Given the description of an element on the screen output the (x, y) to click on. 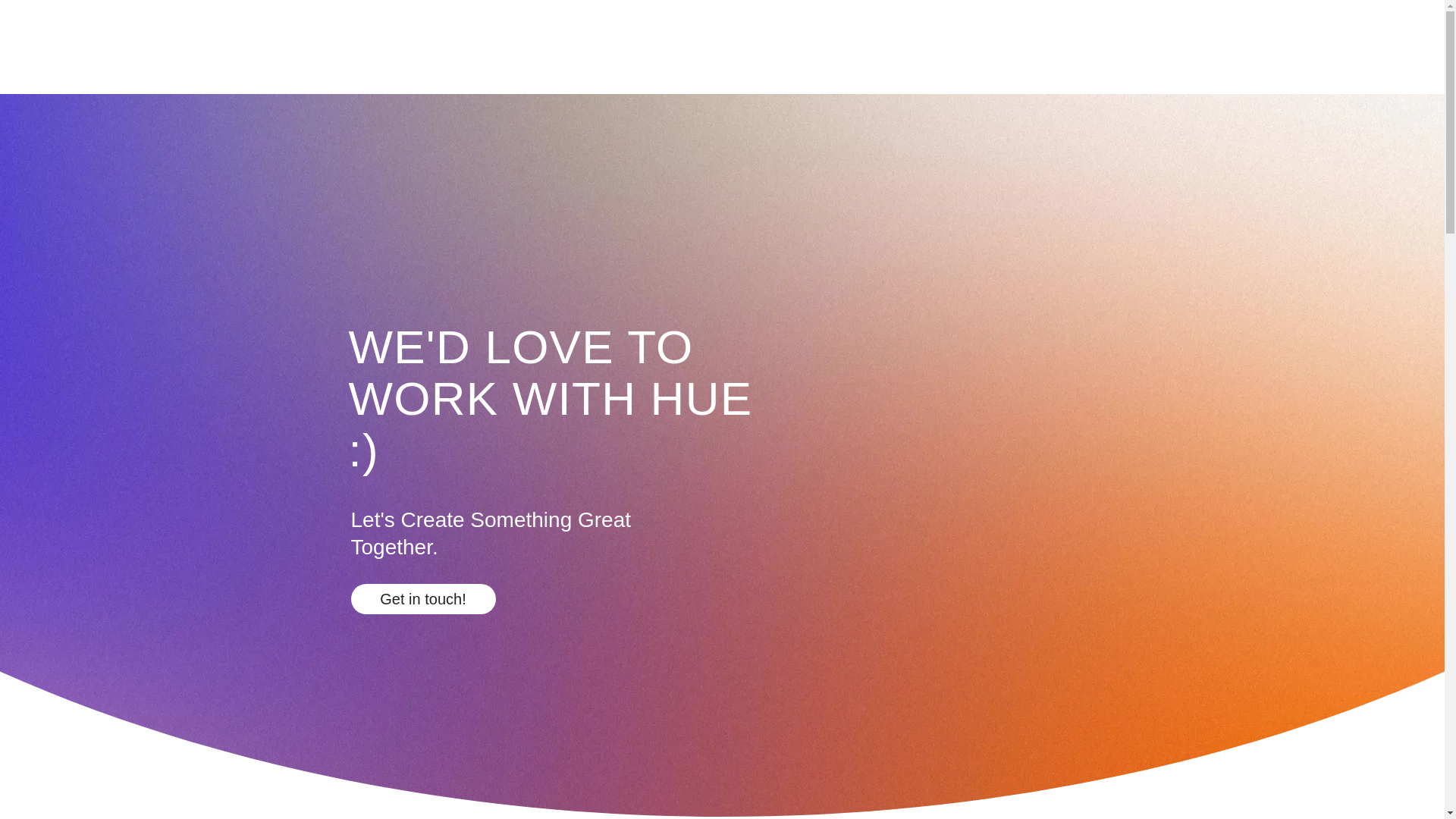
Get in touch! (422, 598)
